Given the description of an element on the screen output the (x, y) to click on. 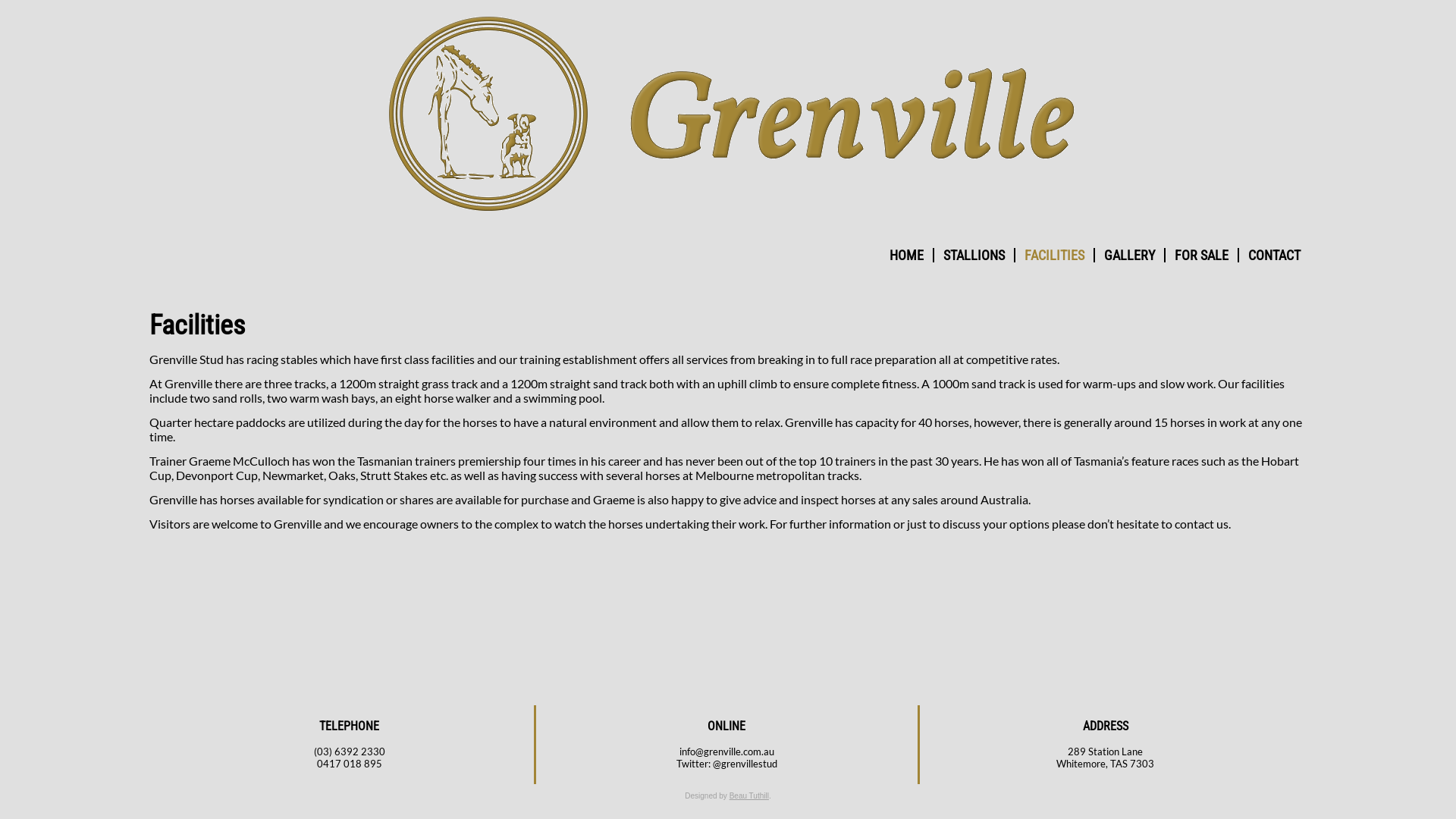
STALLIONS Element type: text (973, 254)
info@grenville.com.au Element type: text (726, 751)
GALLERY Element type: text (1129, 254)
FOR SALE Element type: text (1201, 254)
CONTACT Element type: text (1274, 254)
FACILITIES Element type: text (1054, 254)
Beau Tuthill Element type: text (748, 795)
HOME Element type: text (906, 254)
@grenvillestud Element type: text (744, 763)
